Given the description of an element on the screen output the (x, y) to click on. 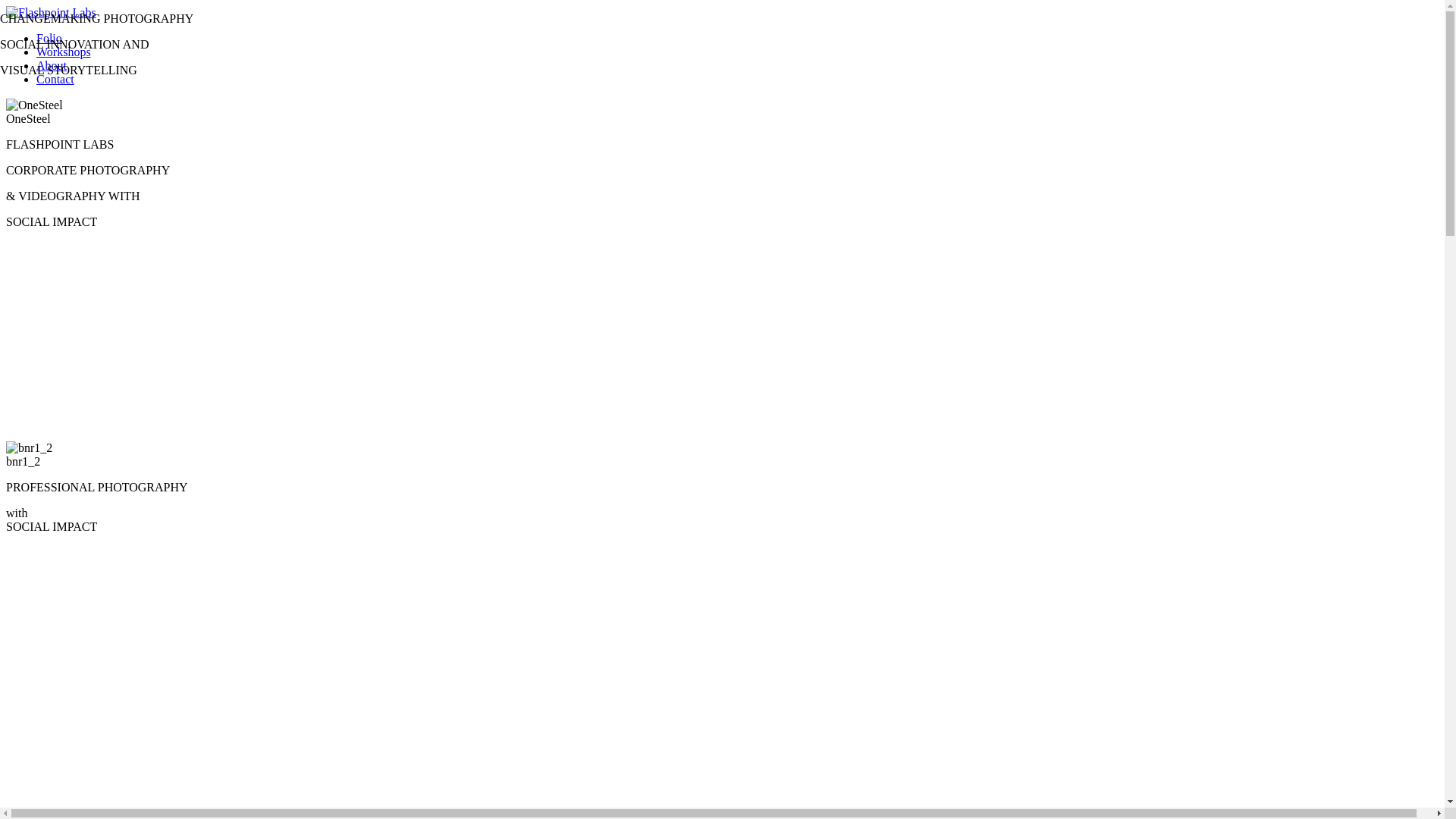
About Element type: text (51, 65)
Workshops Element type: text (63, 51)
Contact Element type: text (55, 78)
Folio Element type: text (49, 37)
